Given the description of an element on the screen output the (x, y) to click on. 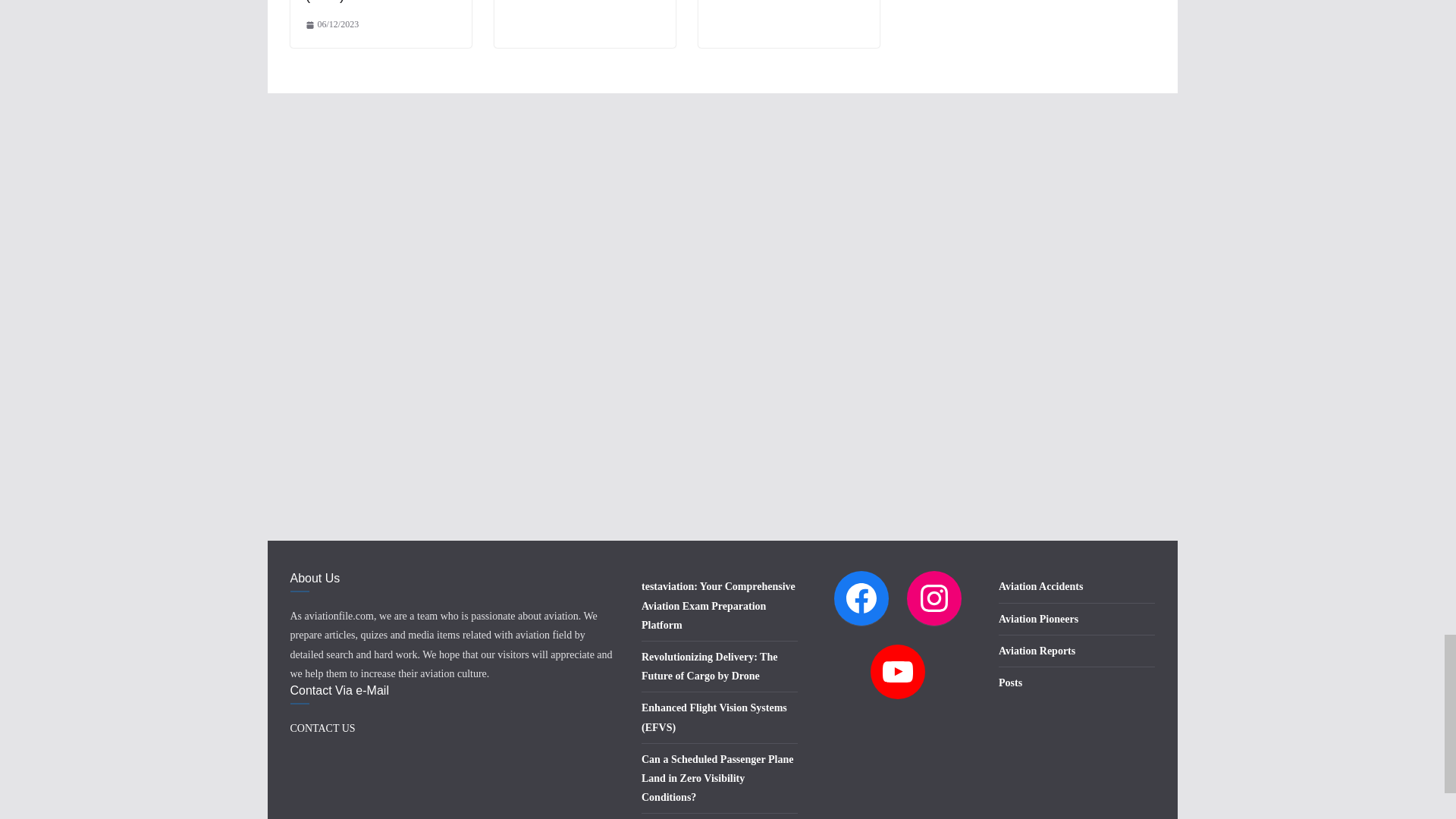
14:25 (331, 24)
